Given the description of an element on the screen output the (x, y) to click on. 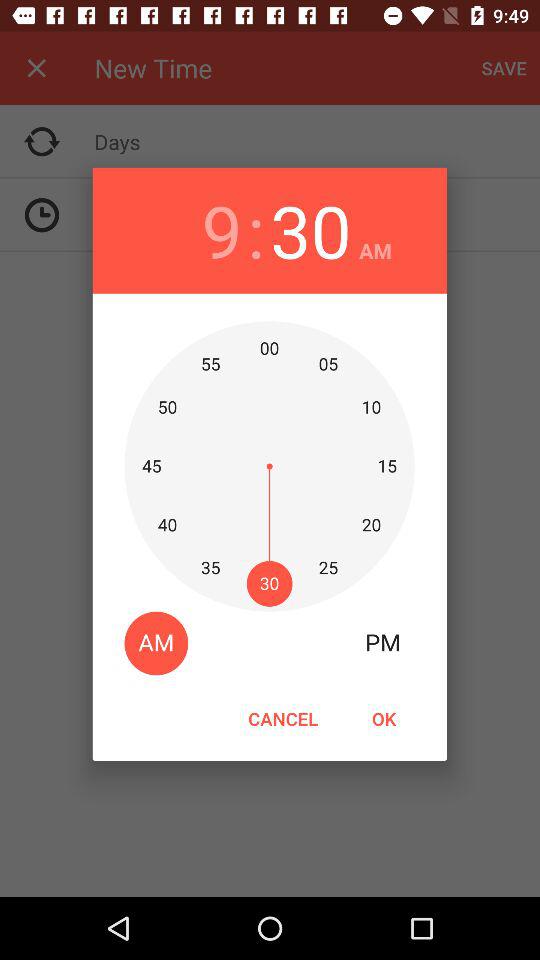
press icon next to : icon (221, 230)
